Given the description of an element on the screen output the (x, y) to click on. 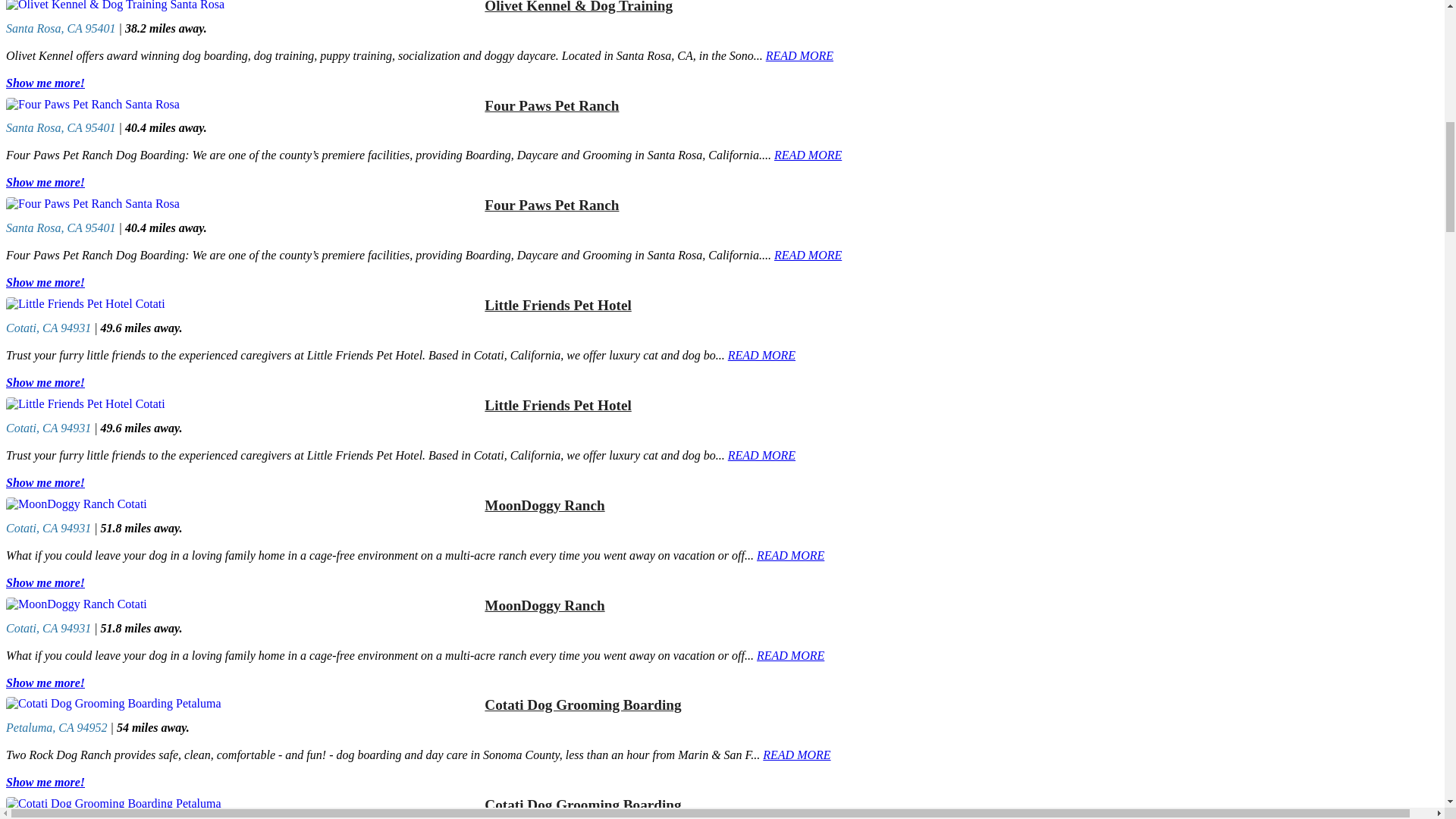
Little Friends Pet Hotel Cotati (242, 304)
READ MORE (807, 254)
Four Paws Pet Ranch (961, 105)
MoonDoggy Ranch Cotati (242, 603)
Little Friends Pet Hotel Cotati (242, 404)
Show me more! (44, 182)
READ MORE (761, 354)
Cotati Dog Grooming   Boarding Petaluma (242, 803)
Little Friends Pet Hotel (961, 305)
Show me more! (44, 82)
Four Paws Pet Ranch (961, 205)
Four Paws Pet Ranch Santa Rosa (242, 203)
READ MORE (798, 55)
Show me more! (44, 382)
Four Paws Pet Ranch Santa Rosa (242, 104)
